Given the description of an element on the screen output the (x, y) to click on. 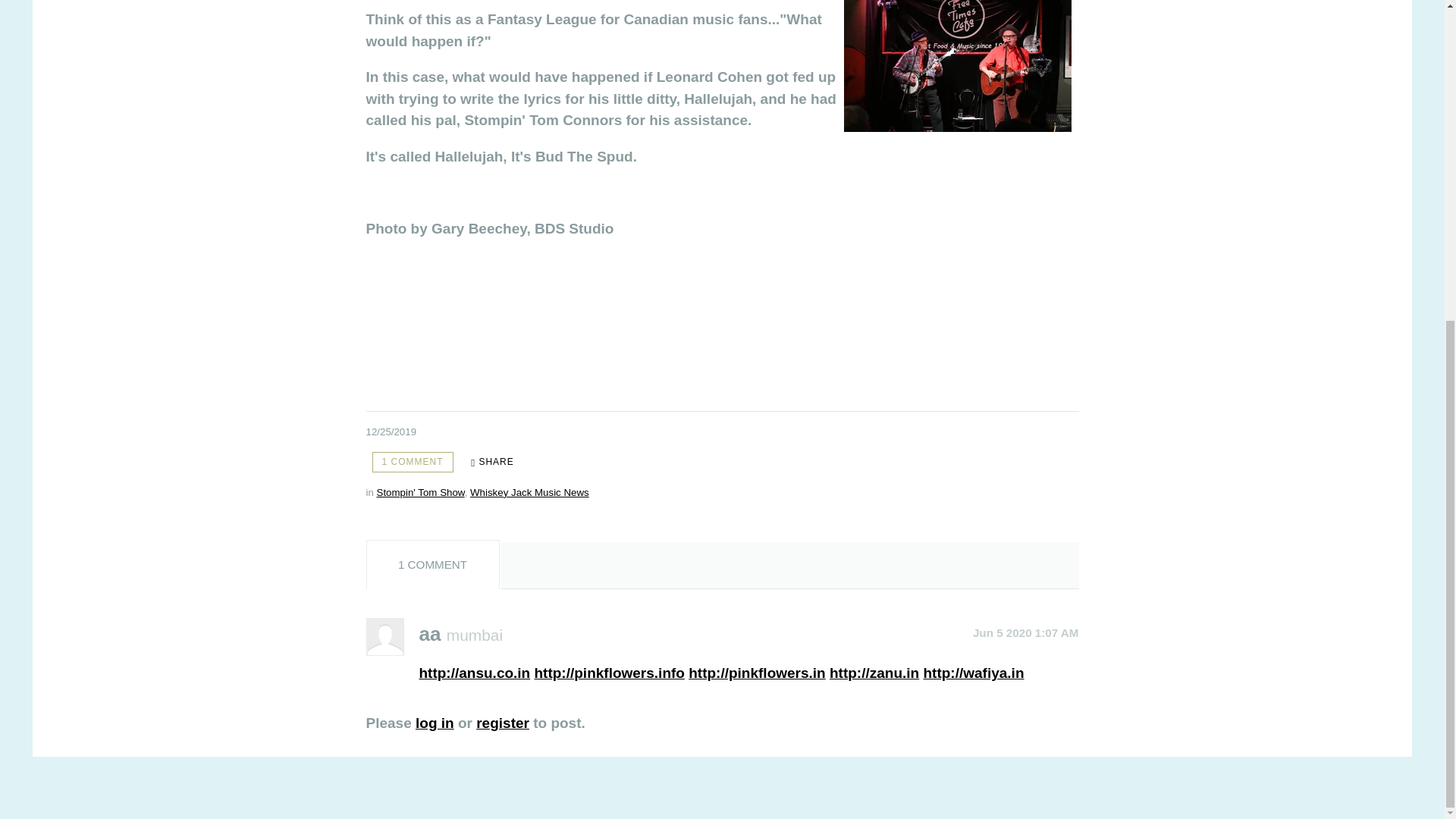
register (502, 722)
log in (434, 722)
Stompin' Tom Show (420, 491)
1 comment (411, 462)
Share Hallelujah, It's Bud The Spud (491, 461)
SHARE (491, 461)
Whiskey Jack Music News (529, 491)
December 25, 2019 16:23 (390, 431)
1 COMMENT (411, 462)
